Given the description of an element on the screen output the (x, y) to click on. 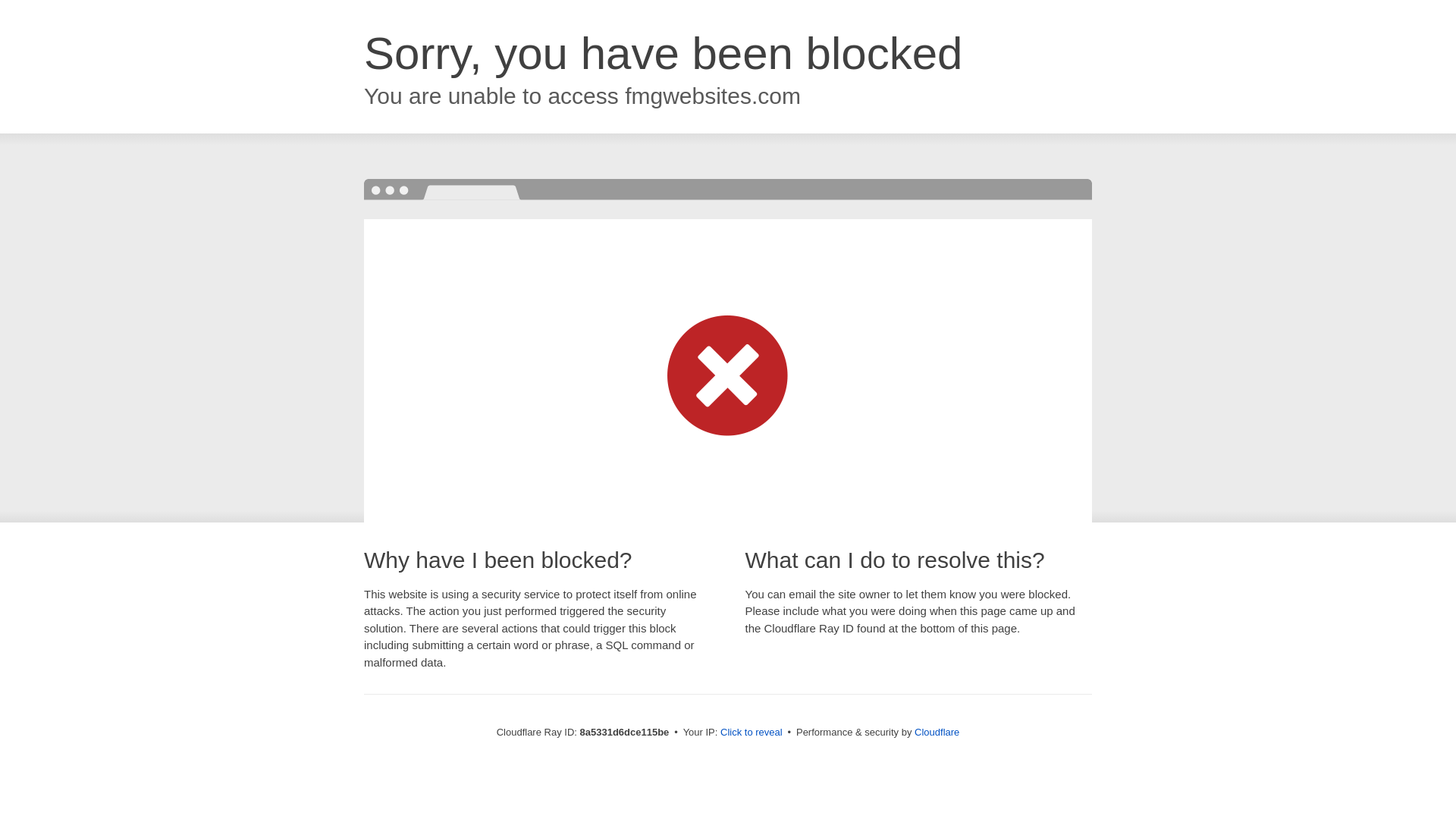
Click to reveal (751, 732)
Cloudflare (936, 731)
